Given the description of an element on the screen output the (x, y) to click on. 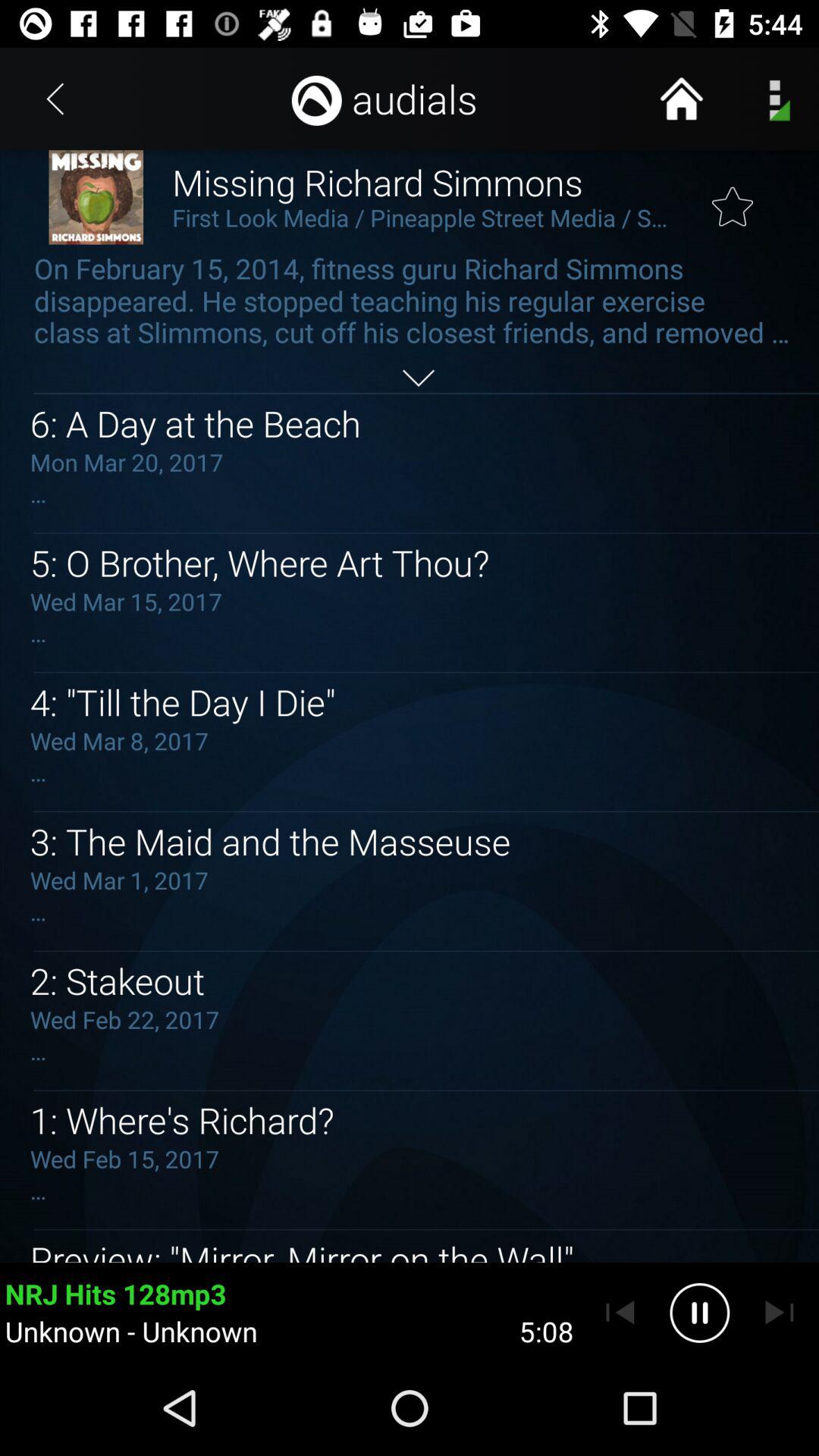
favorite the posting (732, 197)
